Given the description of an element on the screen output the (x, y) to click on. 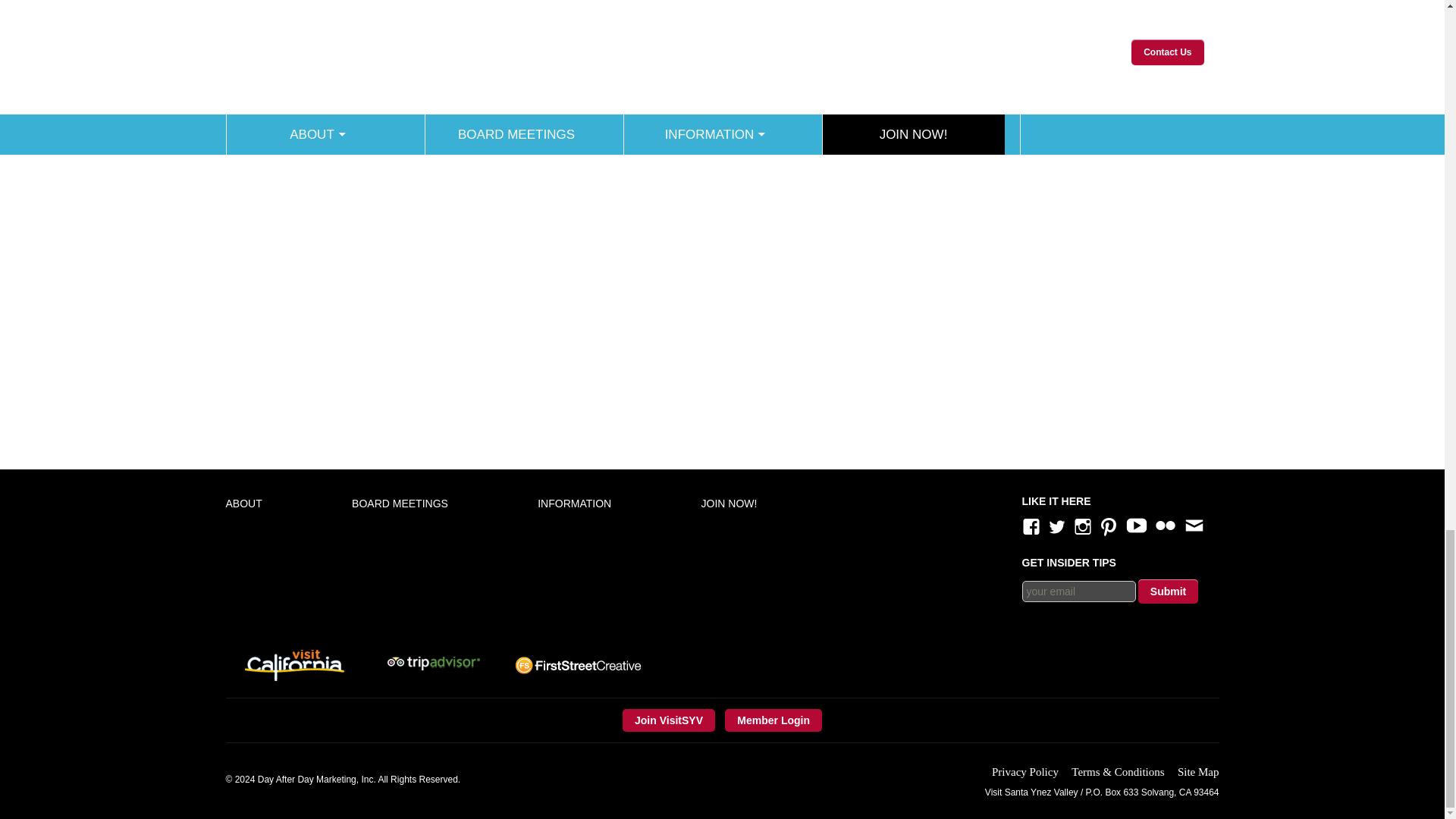
Submit (1168, 591)
